Given the description of an element on the screen output the (x, y) to click on. 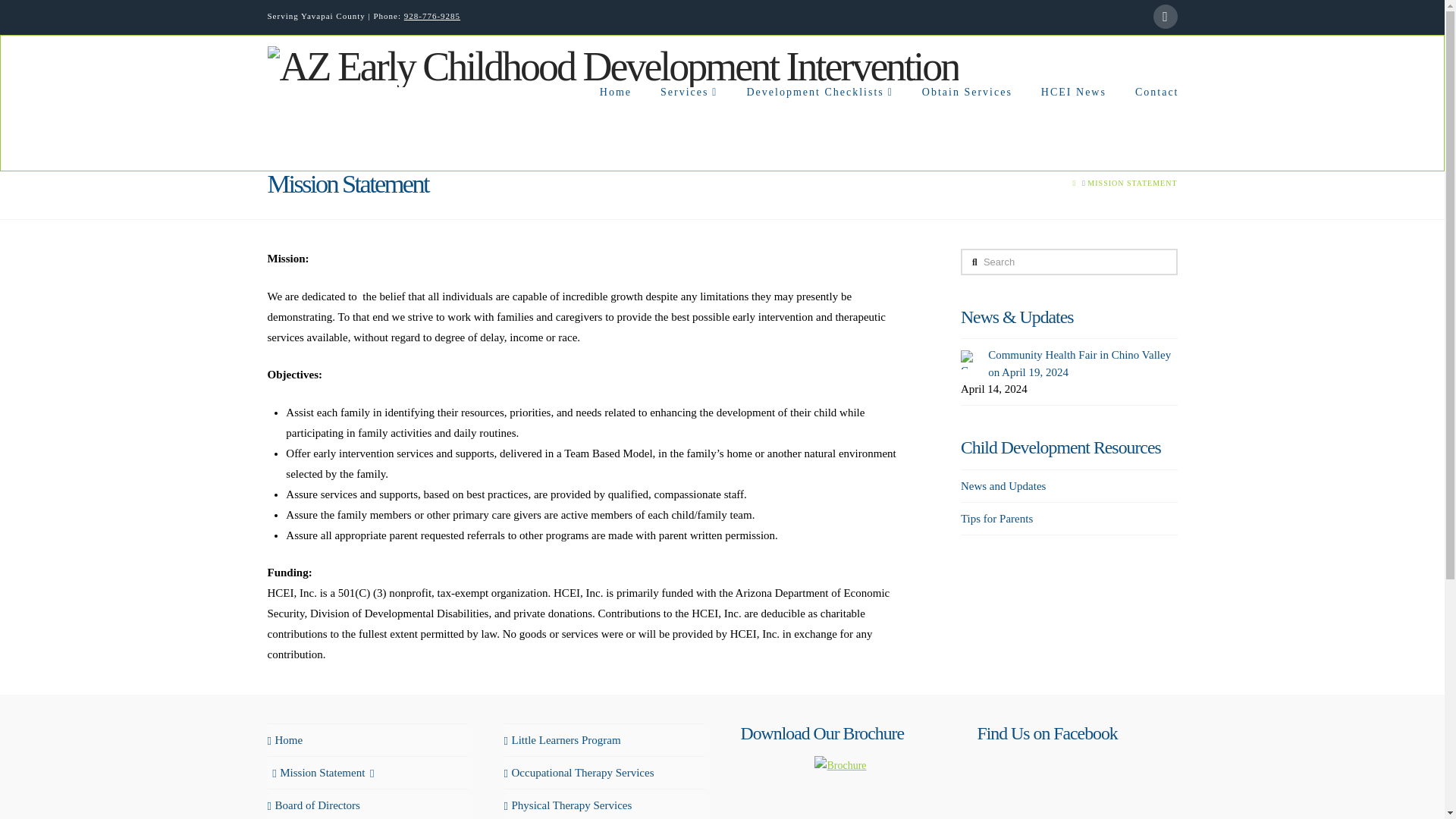
Services (687, 128)
Development Checklists (817, 128)
Home (284, 740)
AZ Early Childhood Development Intervention (612, 63)
Facebook (1164, 16)
MISSION STATEMENT (1131, 183)
News and Updates (1002, 486)
HCEI News (1072, 128)
Obtain Services (966, 128)
928-776-9285 (432, 15)
